Given the description of an element on the screen output the (x, y) to click on. 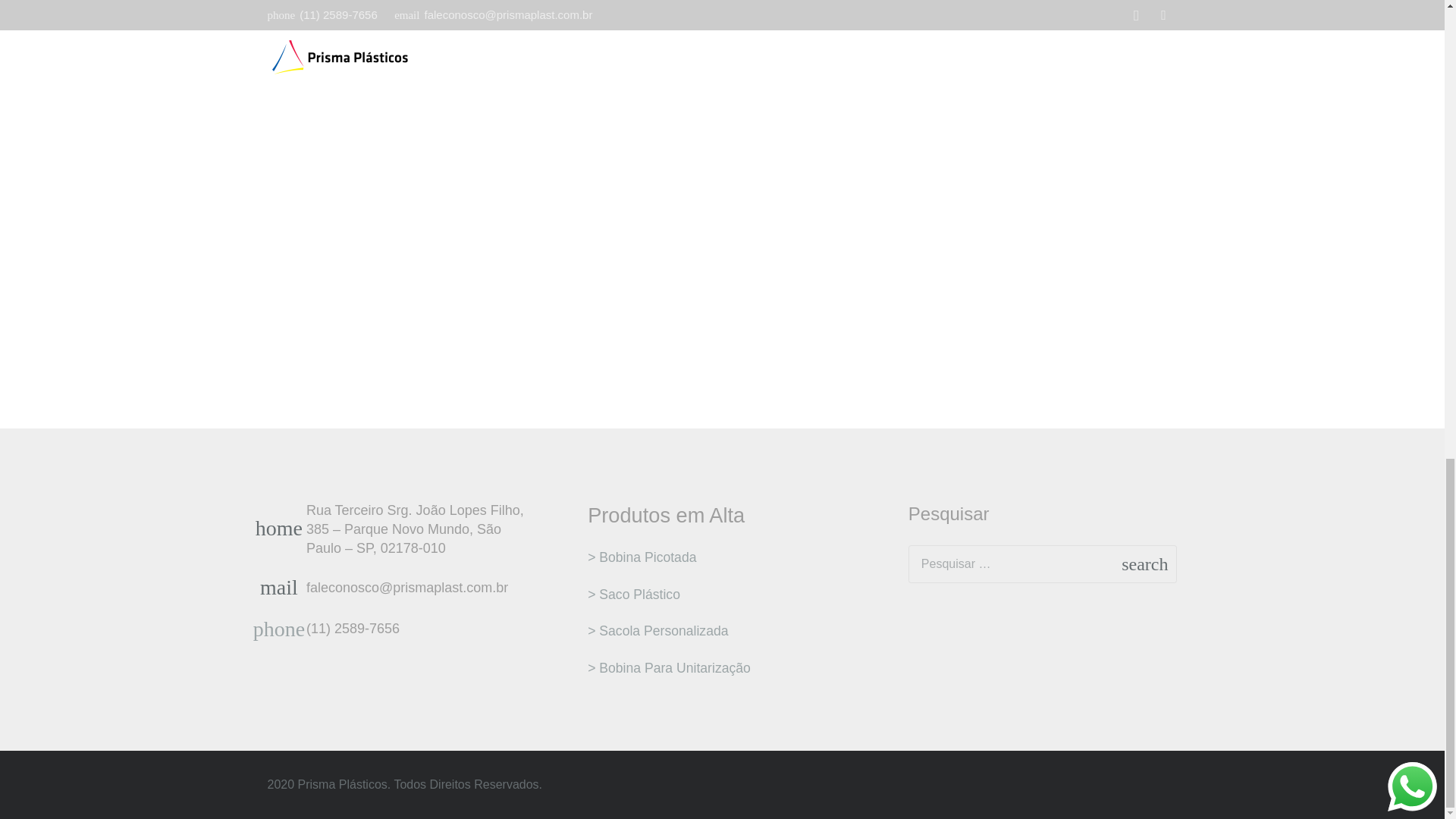
Veja No Mapa (285, 529)
home (285, 529)
Veja No Mapa (420, 529)
mail (285, 588)
